Given the description of an element on the screen output the (x, y) to click on. 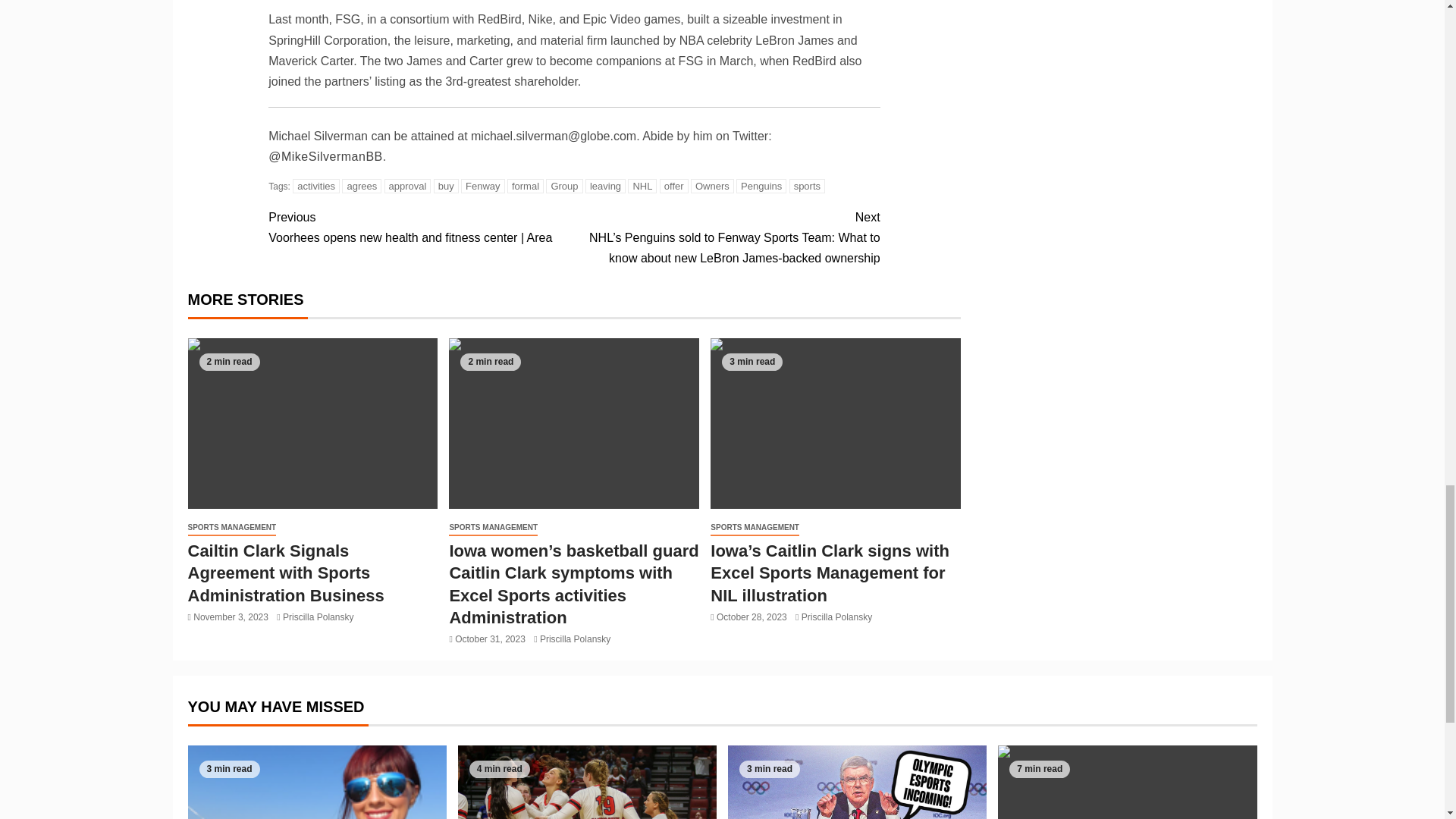
The Ultimate Guide to Inshore Fishing Hotspots in Miami (316, 782)
buy (445, 186)
Fenway (483, 186)
agrees (361, 186)
formal (524, 186)
activities (315, 186)
approval (407, 186)
